Given the description of an element on the screen output the (x, y) to click on. 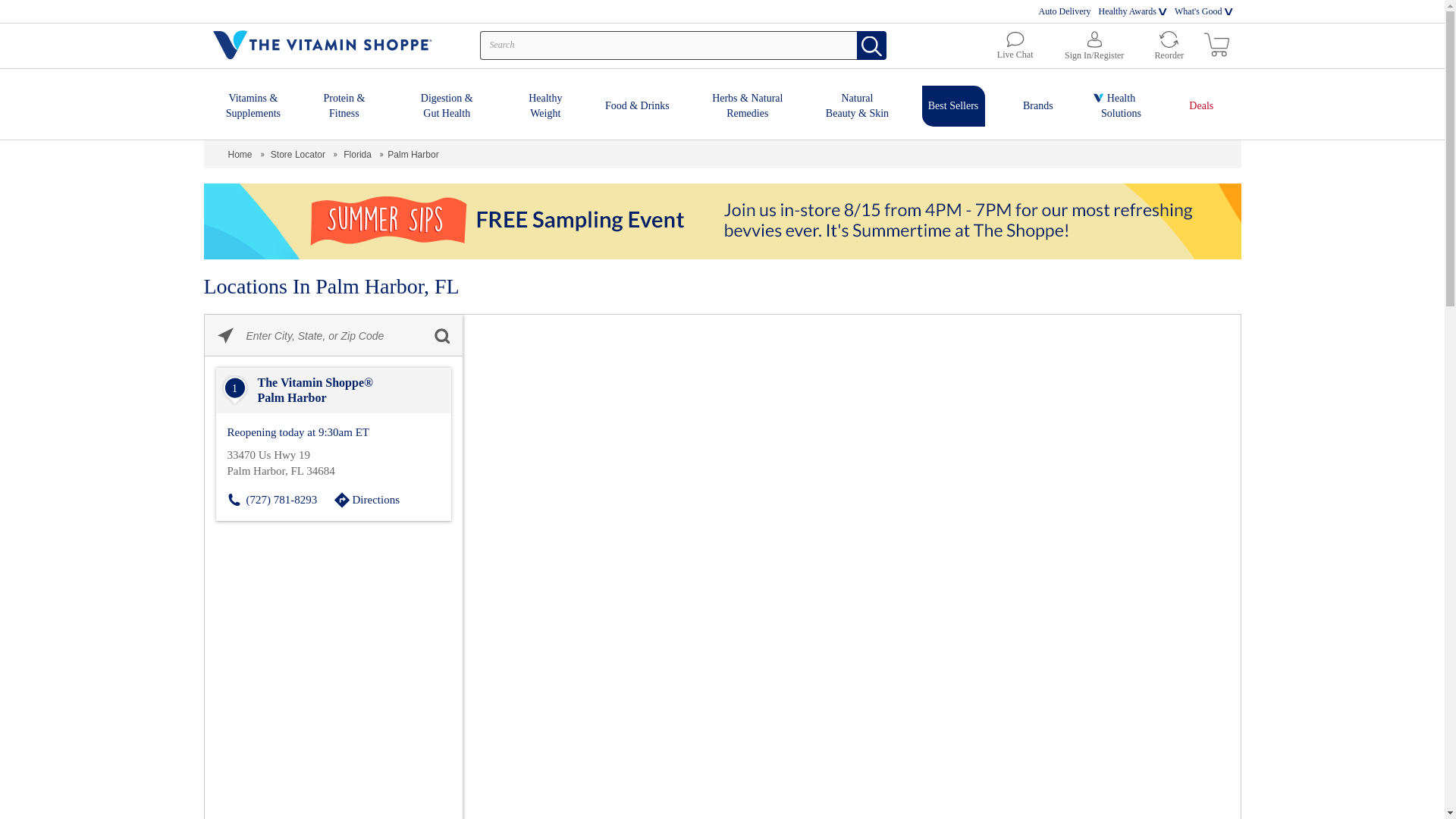
Gold-Member Early Access (721, 221)
Healthy Awards (1126, 12)
Deals (1200, 103)
Menu (12, 7)
Call Store (280, 499)
Live Chat (1015, 45)
Directions (386, 499)
Search locations near you (225, 335)
Search Nearby Locations (440, 335)
Brands (1037, 103)
